Given the description of an element on the screen output the (x, y) to click on. 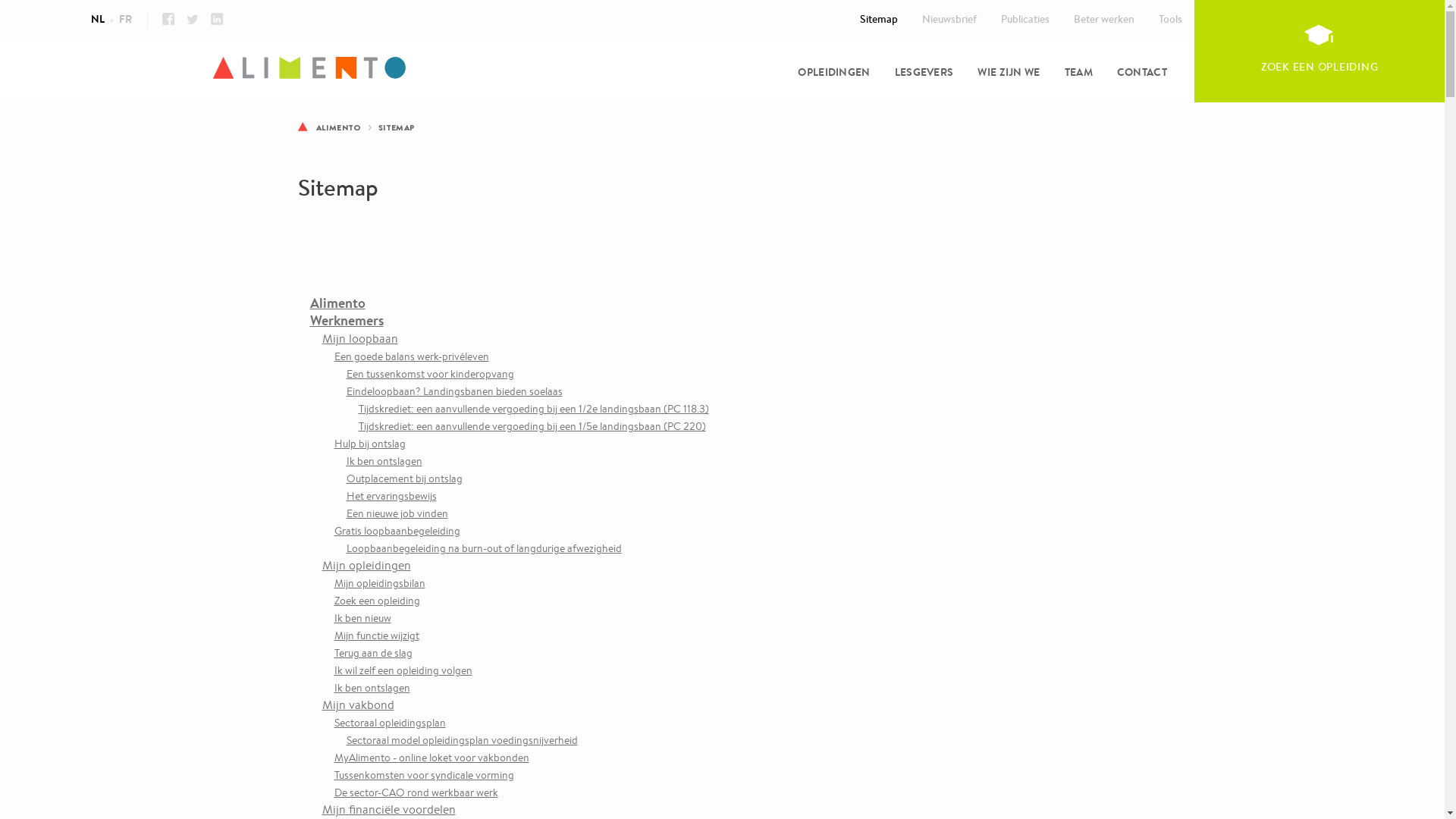
Zoek een opleiding Element type: text (376, 600)
OPLEIDINGEN Element type: text (833, 71)
Ik ben nieuw Element type: text (361, 617)
De sector-CAO rond werkbaar werk Element type: text (415, 792)
Ik ben ontslagen Element type: text (383, 460)
CONTACT Element type: text (1142, 71)
https://twitter.com/alimentogroep Element type: text (192, 18)
Mijn opleidingen Element type: text (365, 565)
https://www.linkedin.com/company/alimento-group Element type: text (216, 18)
Home Element type: hover (721, 68)
Mijn loopbaan Element type: text (359, 338)
Outplacement bij ontslag Element type: text (403, 478)
Gratis loopbaanbegeleiding Element type: text (396, 530)
Sectoraal model opleidingsplan voedingsnijverheid Element type: text (461, 739)
ALIMENTO Element type: text (337, 127)
Een tussenkomst voor kinderopvang Element type: text (429, 373)
Publicaties Element type: text (1024, 18)
WIE ZIJN WE Element type: text (1008, 71)
Sectoraal opleidingsplan Element type: text (389, 722)
Alimento Element type: text (336, 302)
Een nieuwe job vinden Element type: text (396, 513)
LESGEVERS Element type: text (923, 71)
Beter werken Element type: text (1103, 18)
Sitemap Element type: text (878, 18)
Mijn functie wijzigt Element type: text (375, 635)
MyAlimento - online loket voor vakbonden Element type: text (430, 757)
Eindeloopbaan? Landingsbanen bieden soelaas Element type: text (453, 391)
Tussenkomsten voor syndicale vorming Element type: text (423, 774)
Het ervaringsbewijs Element type: text (390, 495)
Tools Element type: text (1170, 18)
Mijn vakbond Element type: text (357, 704)
FR Element type: text (124, 18)
Ik ben ontslagen Element type: text (371, 687)
Werknemers Element type: text (345, 319)
https://facebook.com/alimentogroep Element type: text (168, 18)
TEAM Element type: text (1078, 71)
Nieuwsbrief Element type: text (949, 18)
NL Element type: text (97, 18)
Loopbaanbegeleiding na burn-out of langdurige afwezigheid Element type: text (483, 548)
Terug aan de slag Element type: text (372, 652)
Mijn opleidingsbilan Element type: text (378, 582)
Ik wil zelf een opleiding volgen Element type: text (402, 670)
SITEMAP Element type: text (396, 127)
Hulp bij ontslag Element type: text (368, 443)
